Given the description of an element on the screen output the (x, y) to click on. 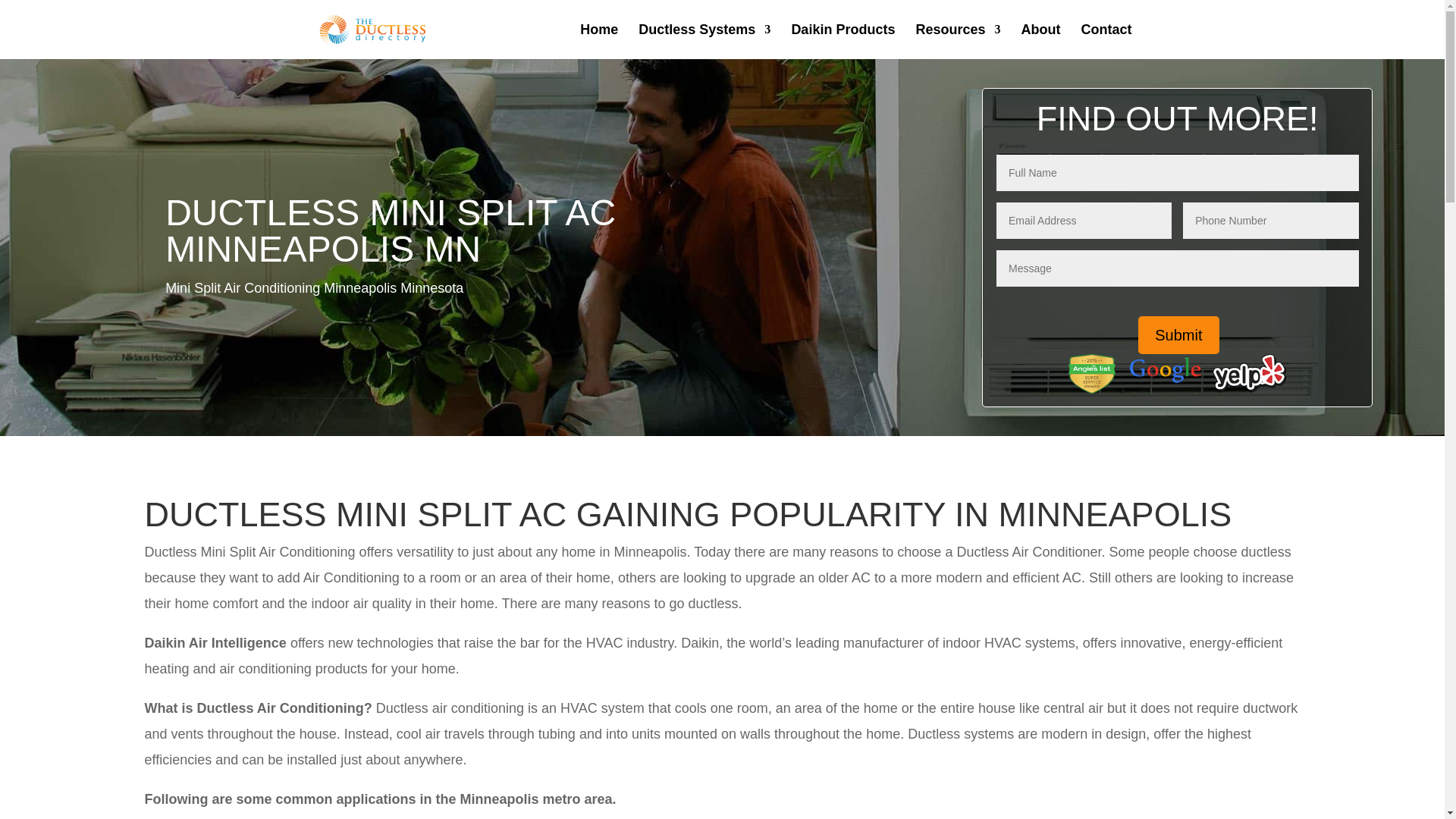
Contact (1106, 40)
Daikin Ductless Products (842, 40)
Only numbers allowed. (1270, 220)
Home (598, 40)
Resources (957, 40)
Daikin Products (842, 40)
About (1039, 40)
Submit (1178, 334)
Ductless Systems (704, 40)
Ductless Resources (957, 40)
